Given the description of an element on the screen output the (x, y) to click on. 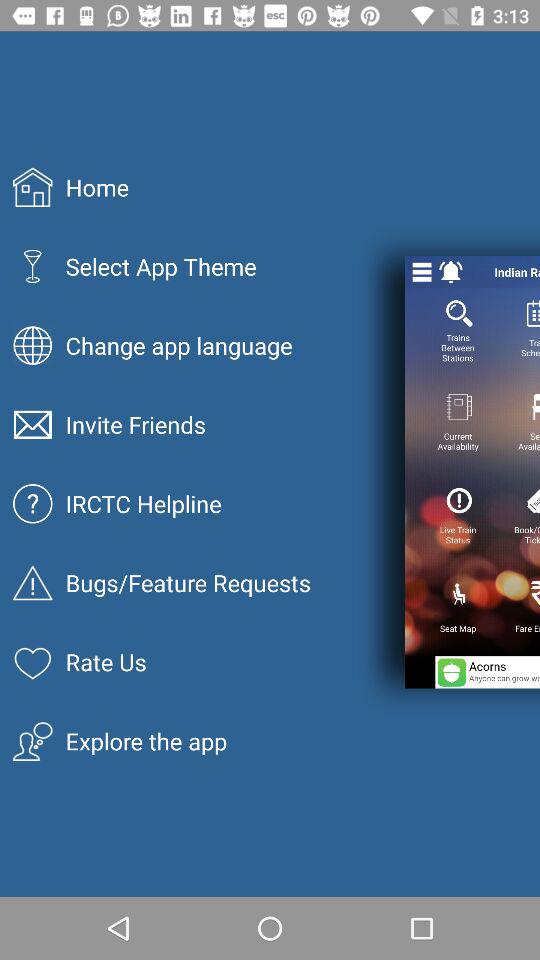
turn off the icon to the right of rate us icon (487, 671)
